Given the description of an element on the screen output the (x, y) to click on. 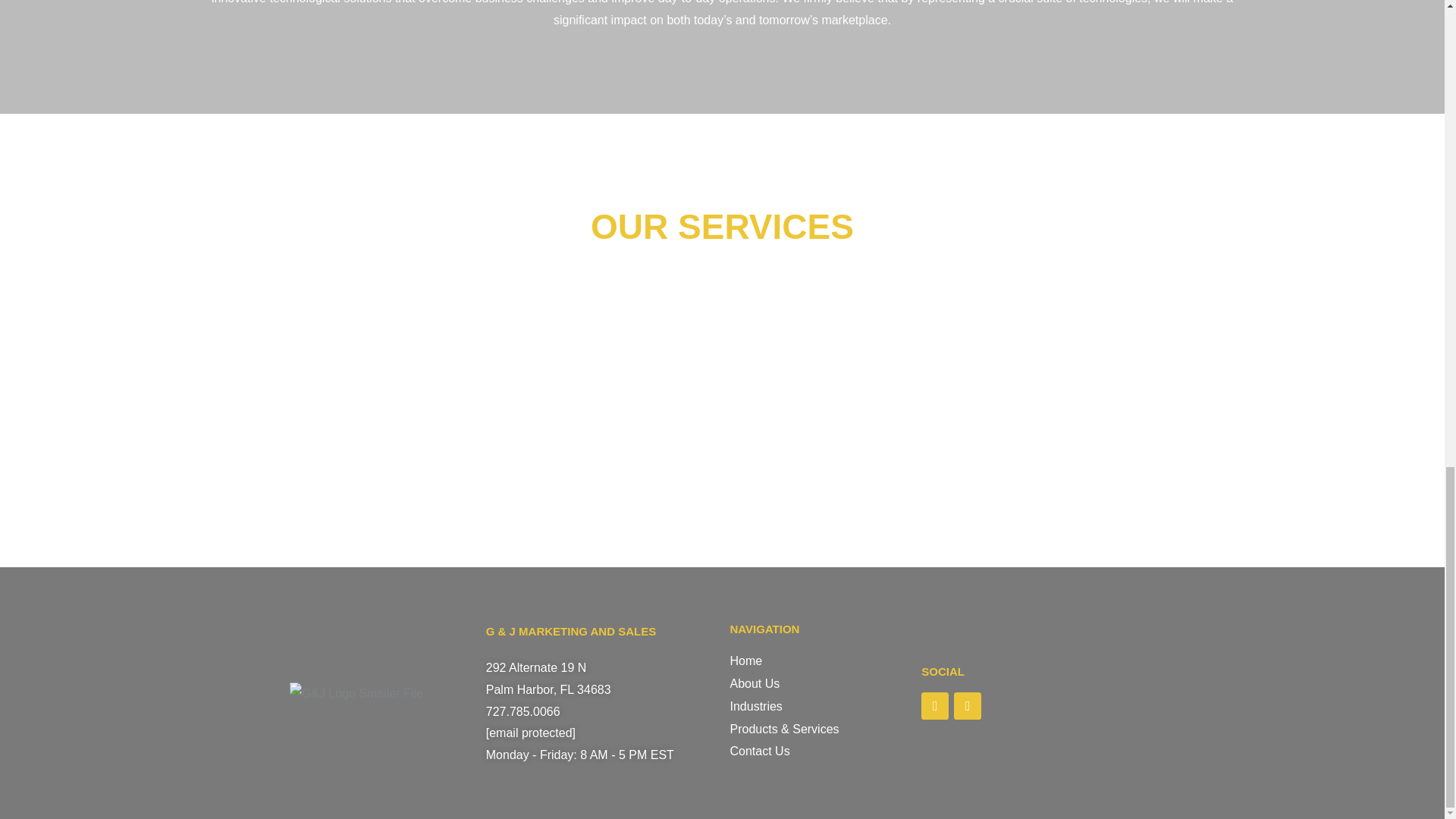
About Us (817, 683)
Contact Us (817, 751)
Home (817, 661)
Industries (817, 706)
Linkedin (967, 705)
Facebook (935, 705)
